Given the description of an element on the screen output the (x, y) to click on. 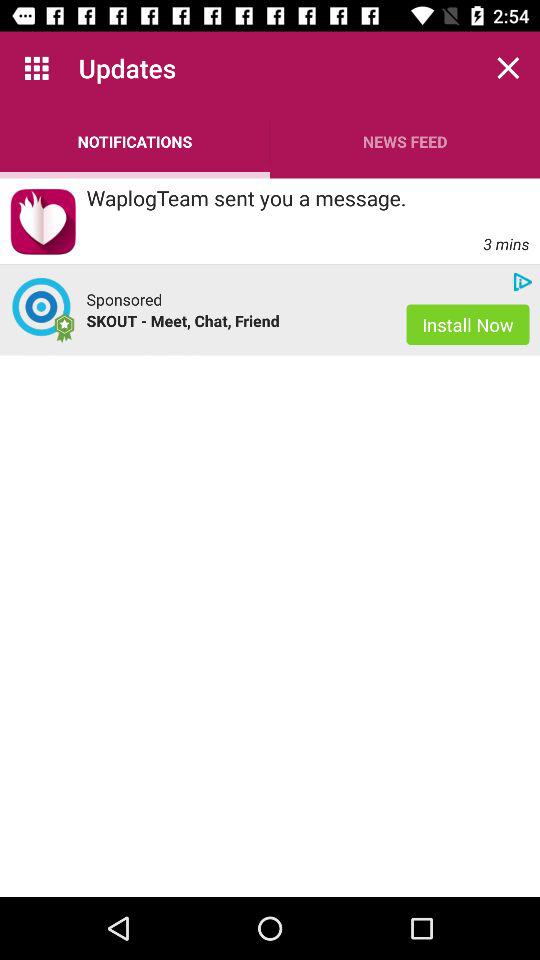
choose icon next to the sponsored item (43, 310)
